Given the description of an element on the screen output the (x, y) to click on. 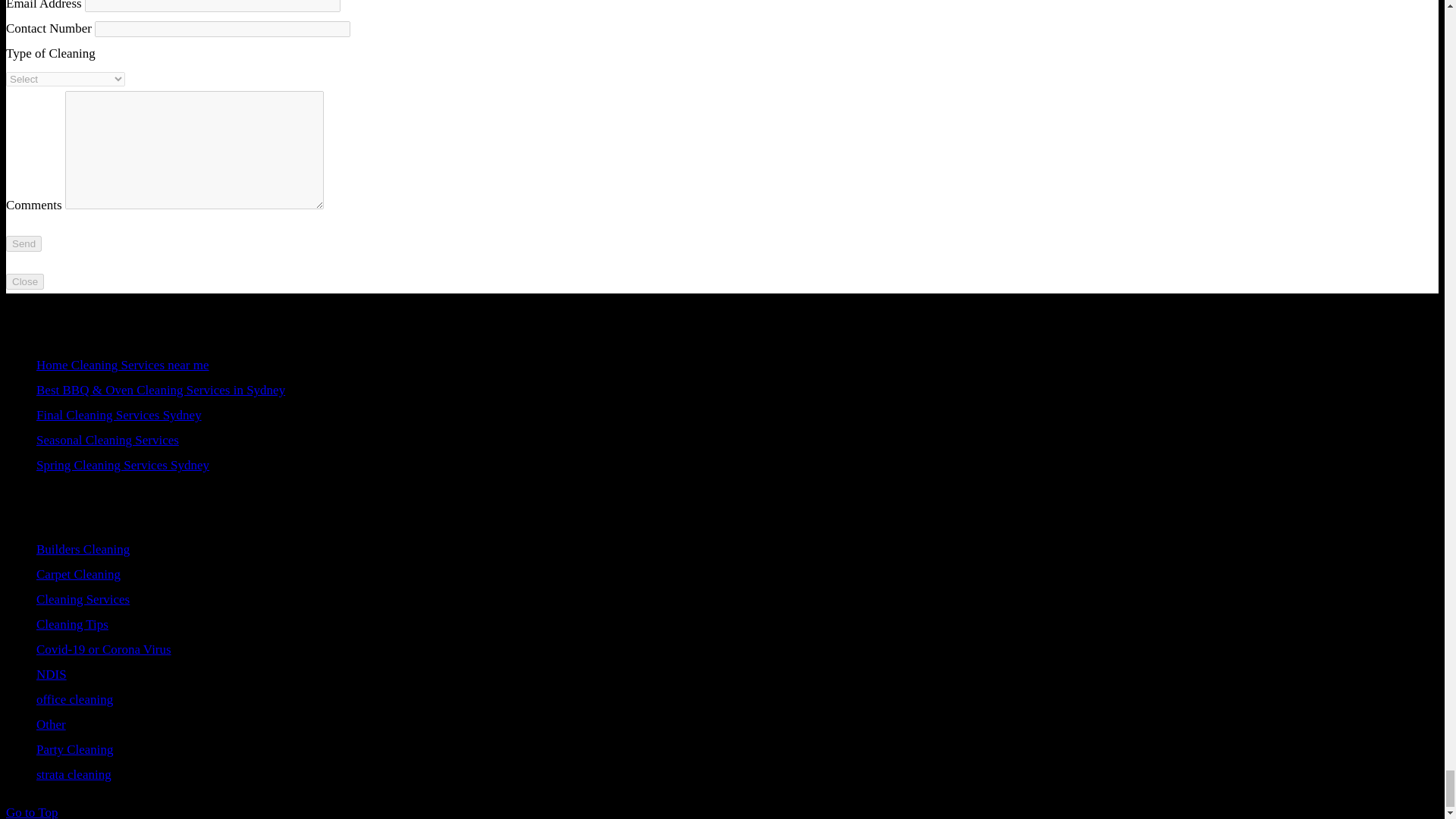
Send (23, 243)
